Given the description of an element on the screen output the (x, y) to click on. 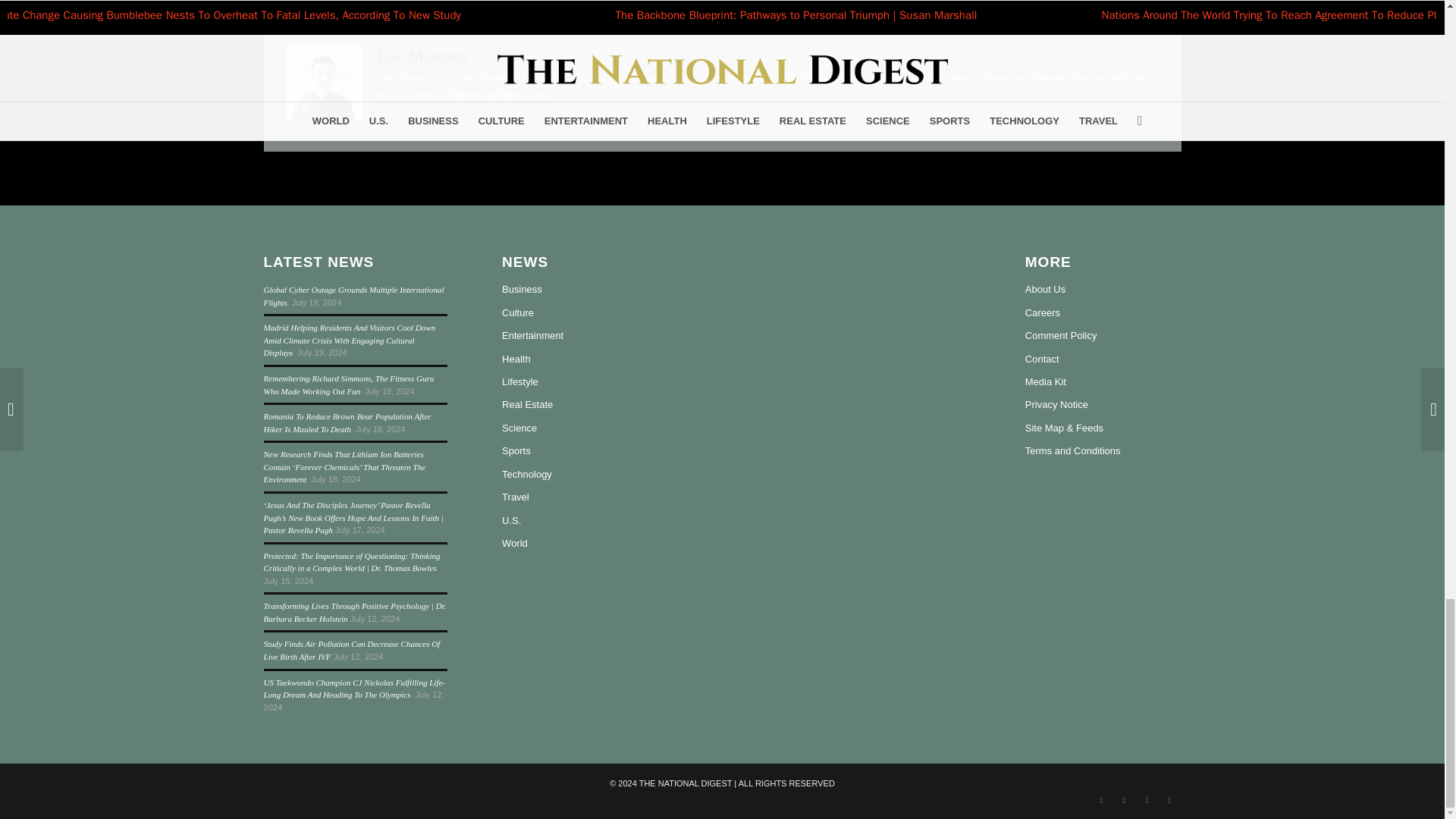
Instagram (1146, 799)
Twitter (1124, 799)
Global Cyber Outage Grounds Multiple International Flights  (353, 296)
Eric Mastrota (422, 55)
Facebook (1101, 799)
LinkedIn (1169, 799)
